Given the description of an element on the screen output the (x, y) to click on. 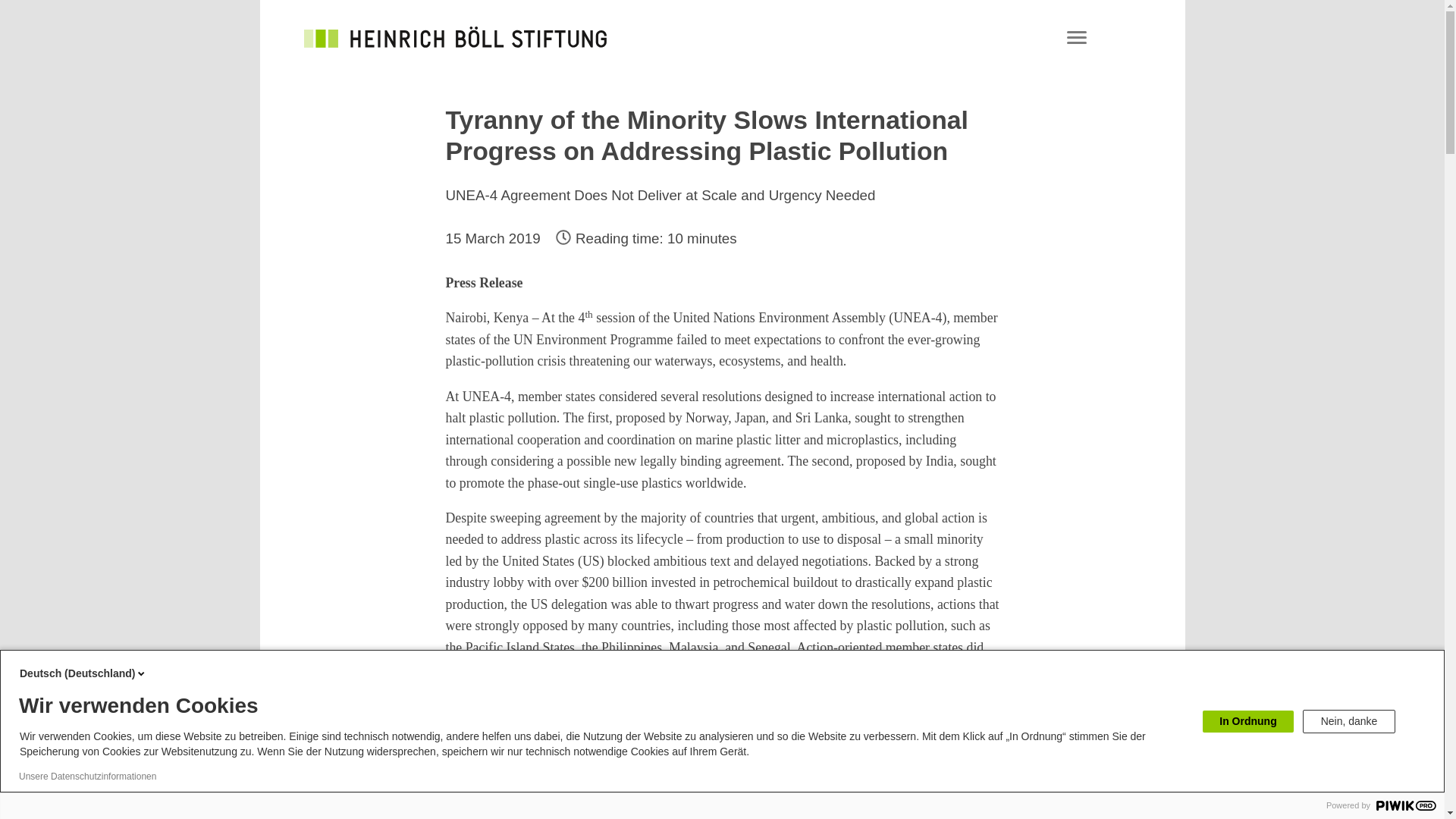
Home (454, 36)
